Given the description of an element on the screen output the (x, y) to click on. 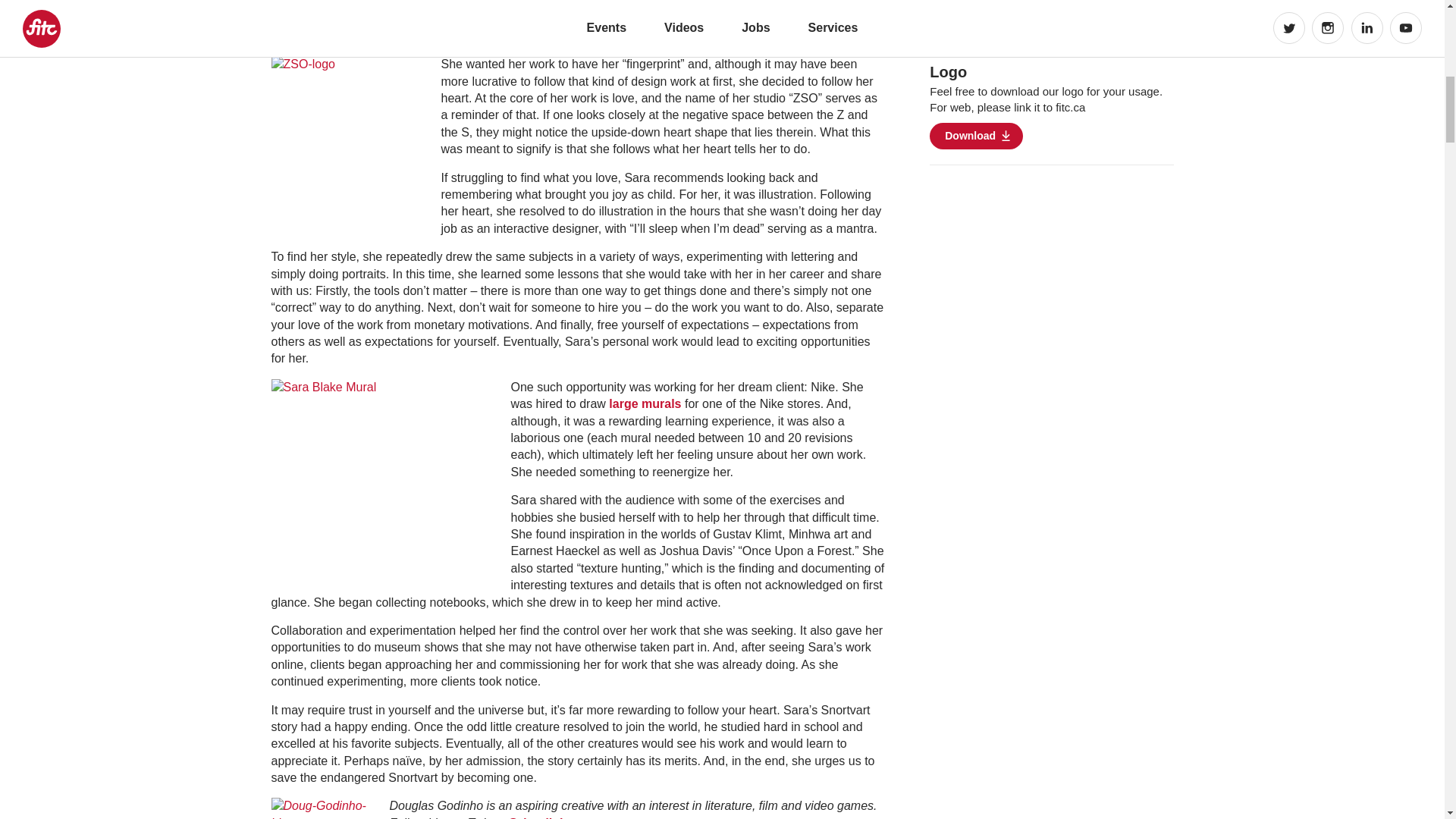
Hello ZSO (644, 403)
large murals (644, 403)
Download (976, 135)
Twitter (539, 817)
